Given the description of an element on the screen output the (x, y) to click on. 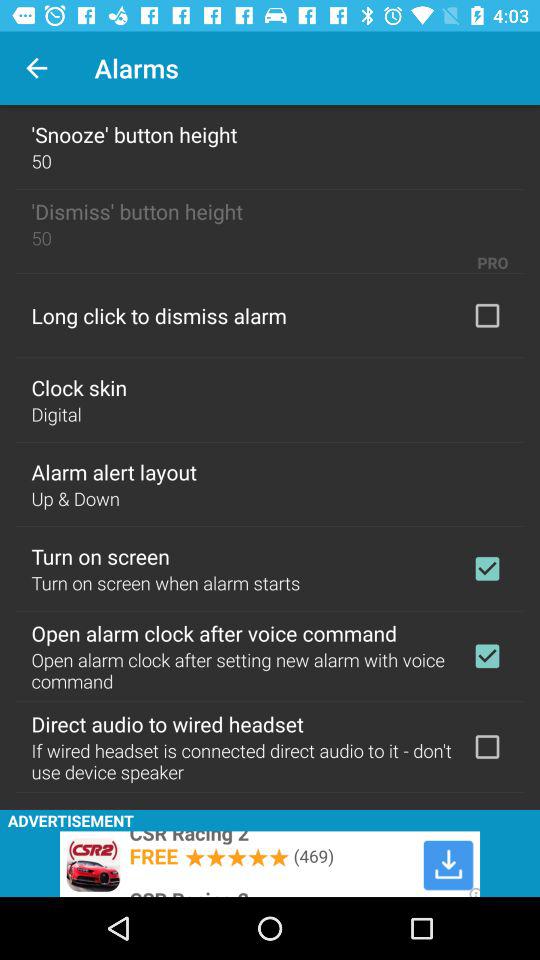
go to tick (487, 568)
